Given the description of an element on the screen output the (x, y) to click on. 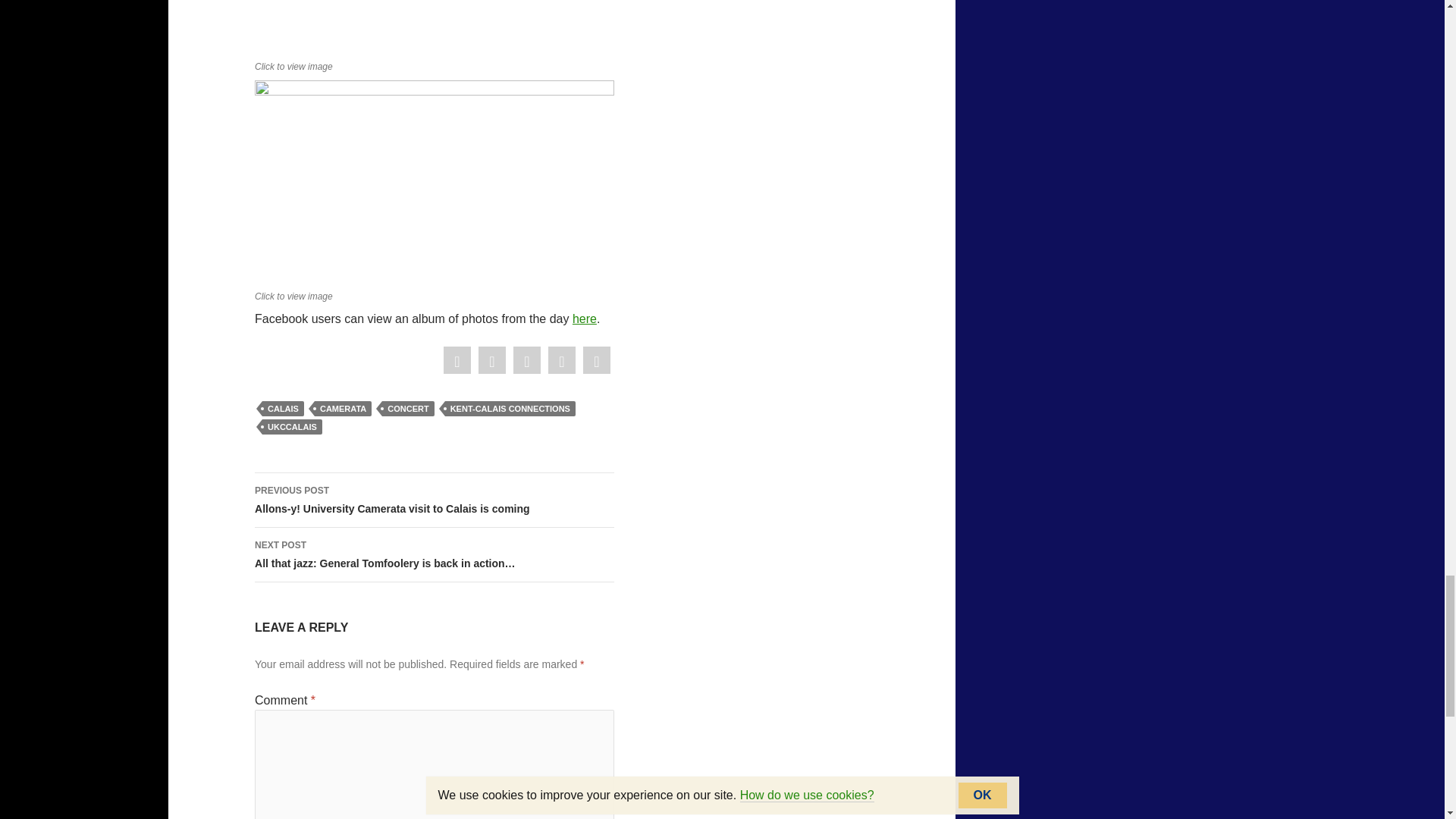
here (584, 318)
Share via Twitter (491, 360)
CALAIS (283, 408)
Share via Facebook (456, 360)
Share via Google Plus (526, 360)
UKCCALAIS (291, 426)
Share via Email (596, 360)
KENT-CALAIS CONNECTIONS (510, 408)
CAMERATA (342, 408)
